Given the description of an element on the screen output the (x, y) to click on. 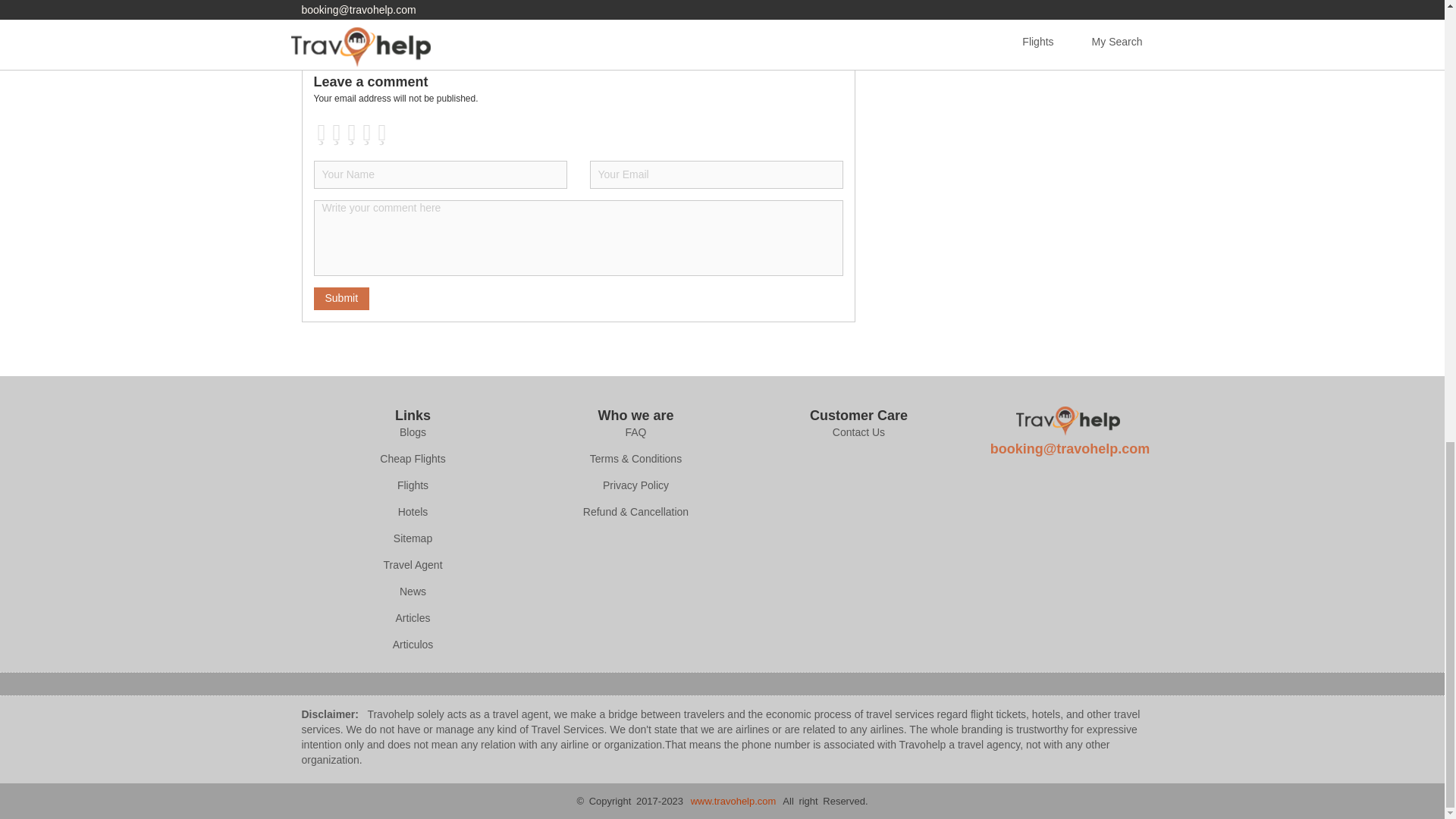
Articulos (412, 645)
Contact Us (858, 432)
Travel Agent (412, 565)
Blogs (412, 432)
www.travohelp.com (733, 800)
News (412, 591)
Flights (412, 485)
Image Title (1067, 420)
FAQ (635, 432)
Submit (341, 298)
Hotels (412, 512)
Privacy Policy (635, 485)
Articles (412, 618)
Cheap Flights (412, 459)
Sitemap (412, 539)
